Given the description of an element on the screen output the (x, y) to click on. 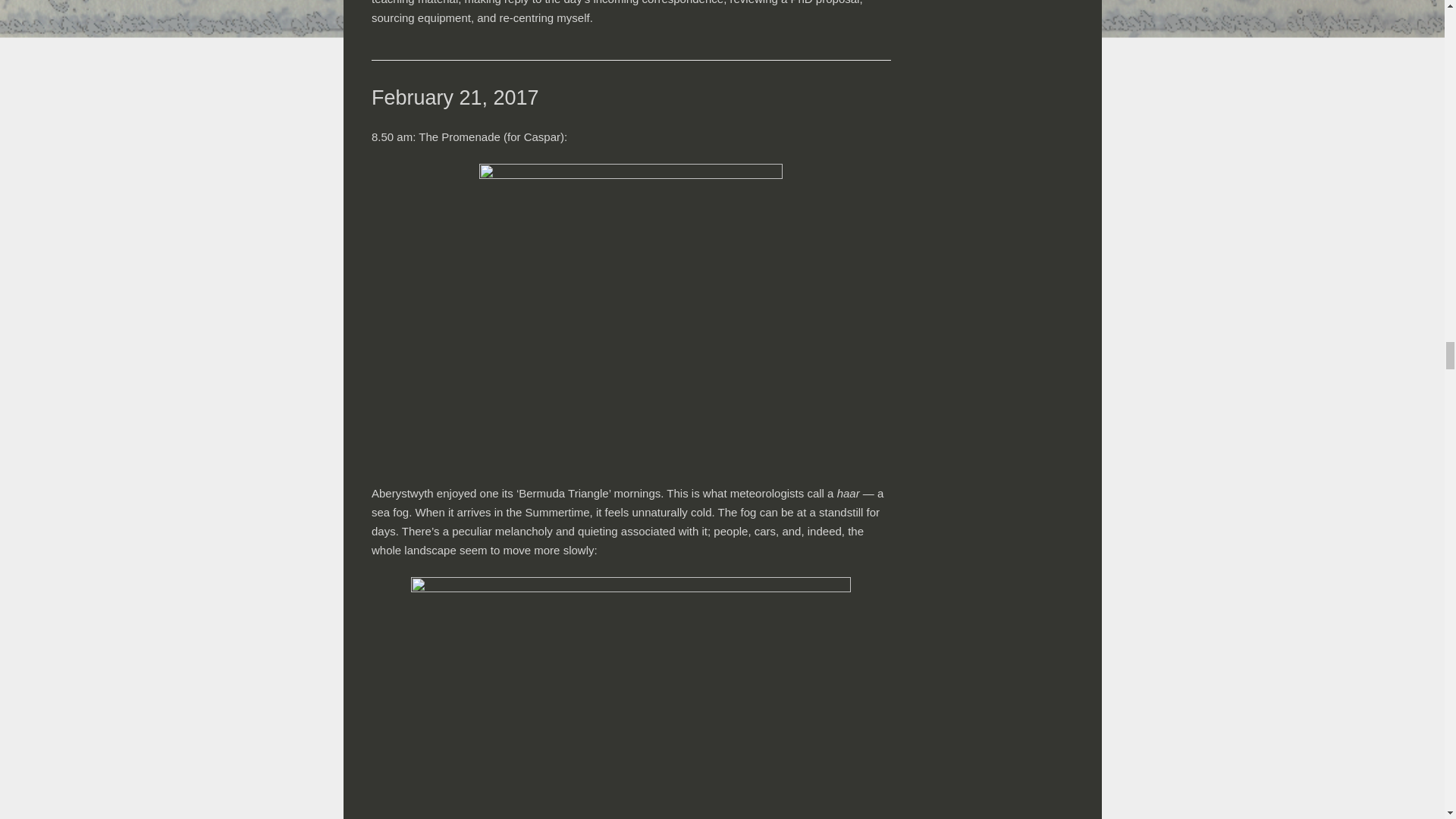
February 21, 2017 (454, 97)
